Given the description of an element on the screen output the (x, y) to click on. 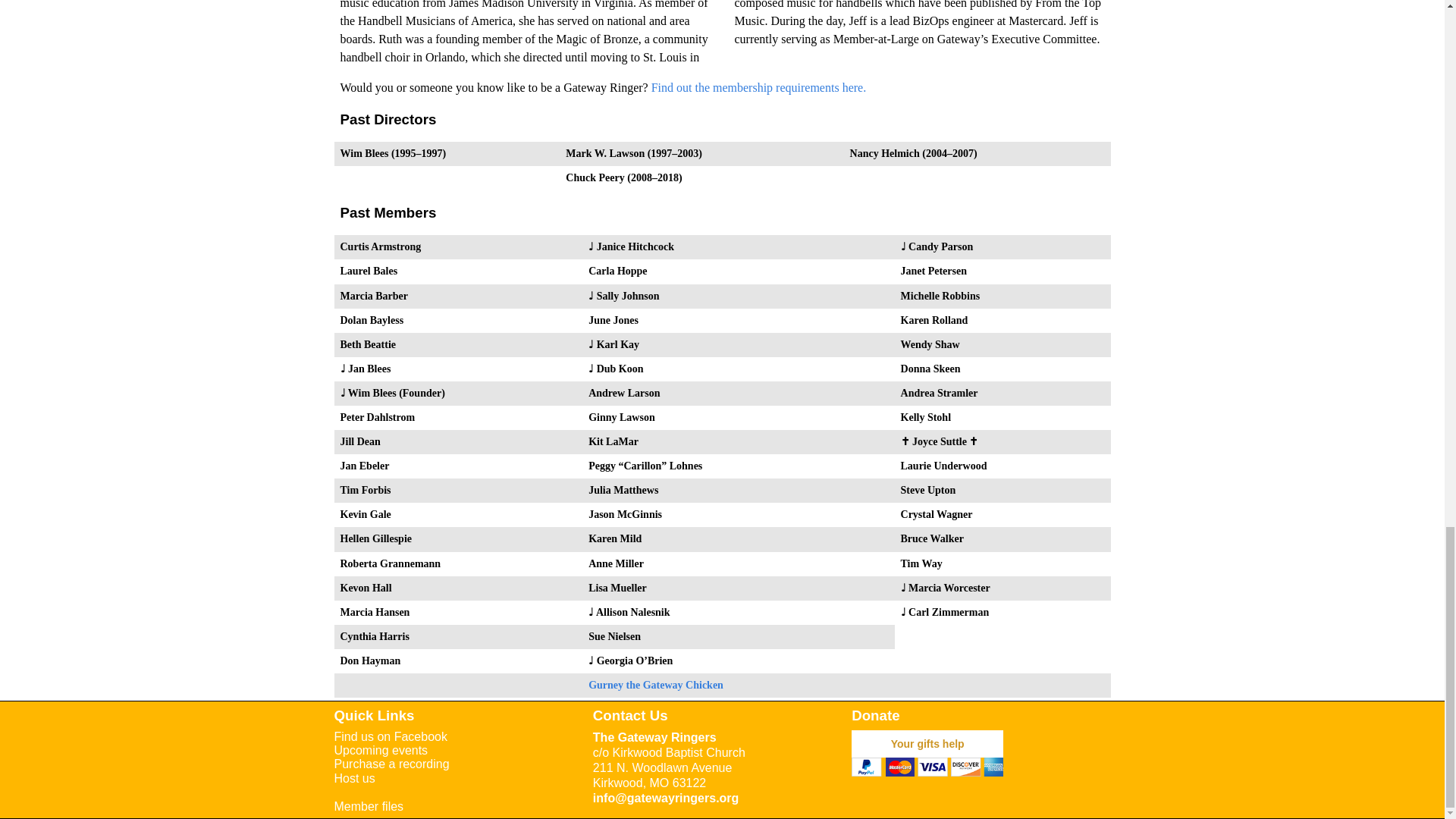
Your gifts help (927, 743)
Find out the membership requirements here. (758, 87)
Host us (353, 778)
Member files (368, 806)
Find us on Facebook (389, 736)
PayPal - The safer, easier way to pay online! (927, 743)
Gurney the Gateway Chicken (655, 685)
Your gifts help (927, 743)
Contact Us (630, 715)
Upcoming events (380, 749)
Purchase a recording (390, 763)
